Given the description of an element on the screen output the (x, y) to click on. 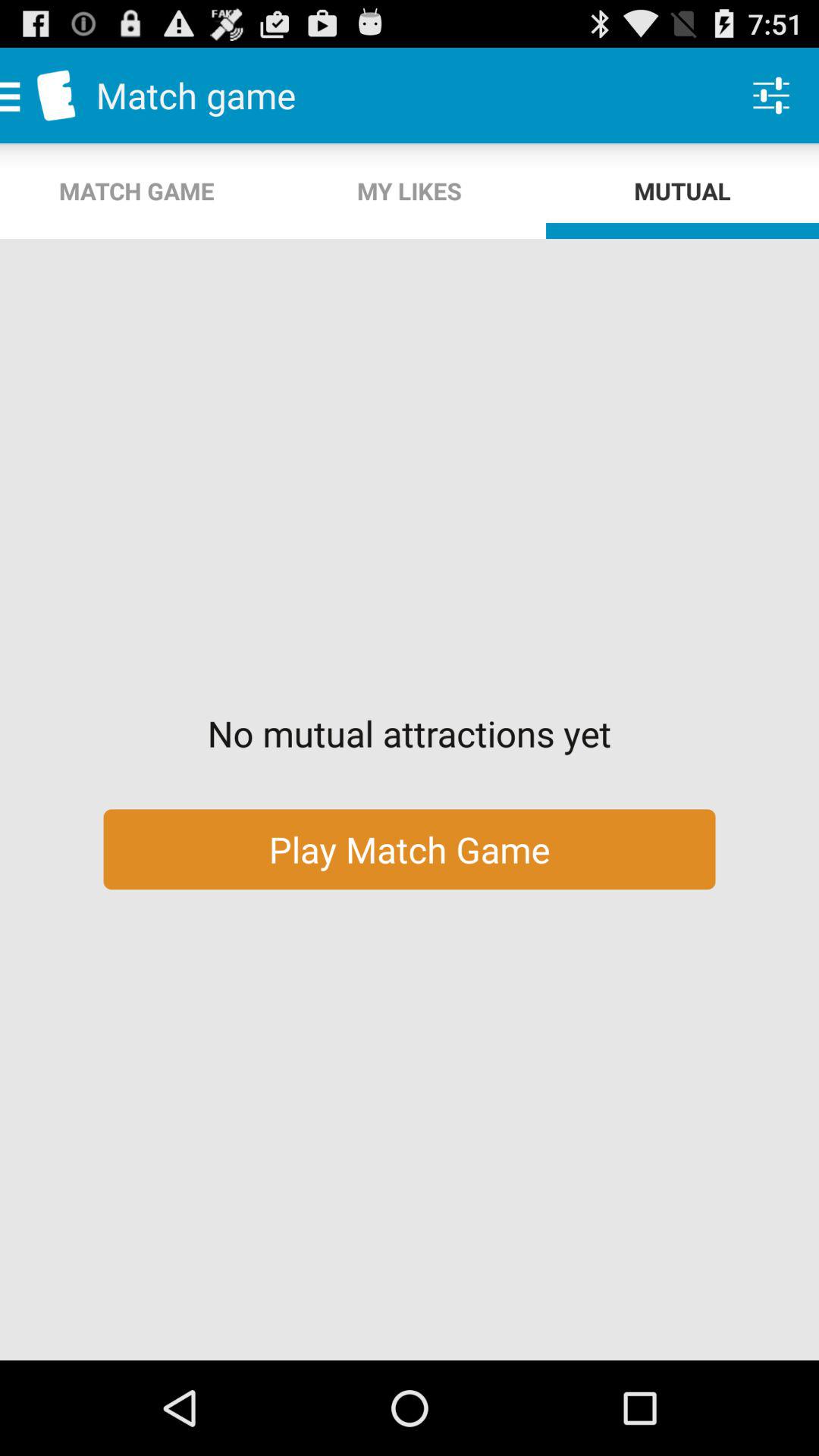
turn off my likes icon (409, 190)
